Given the description of an element on the screen output the (x, y) to click on. 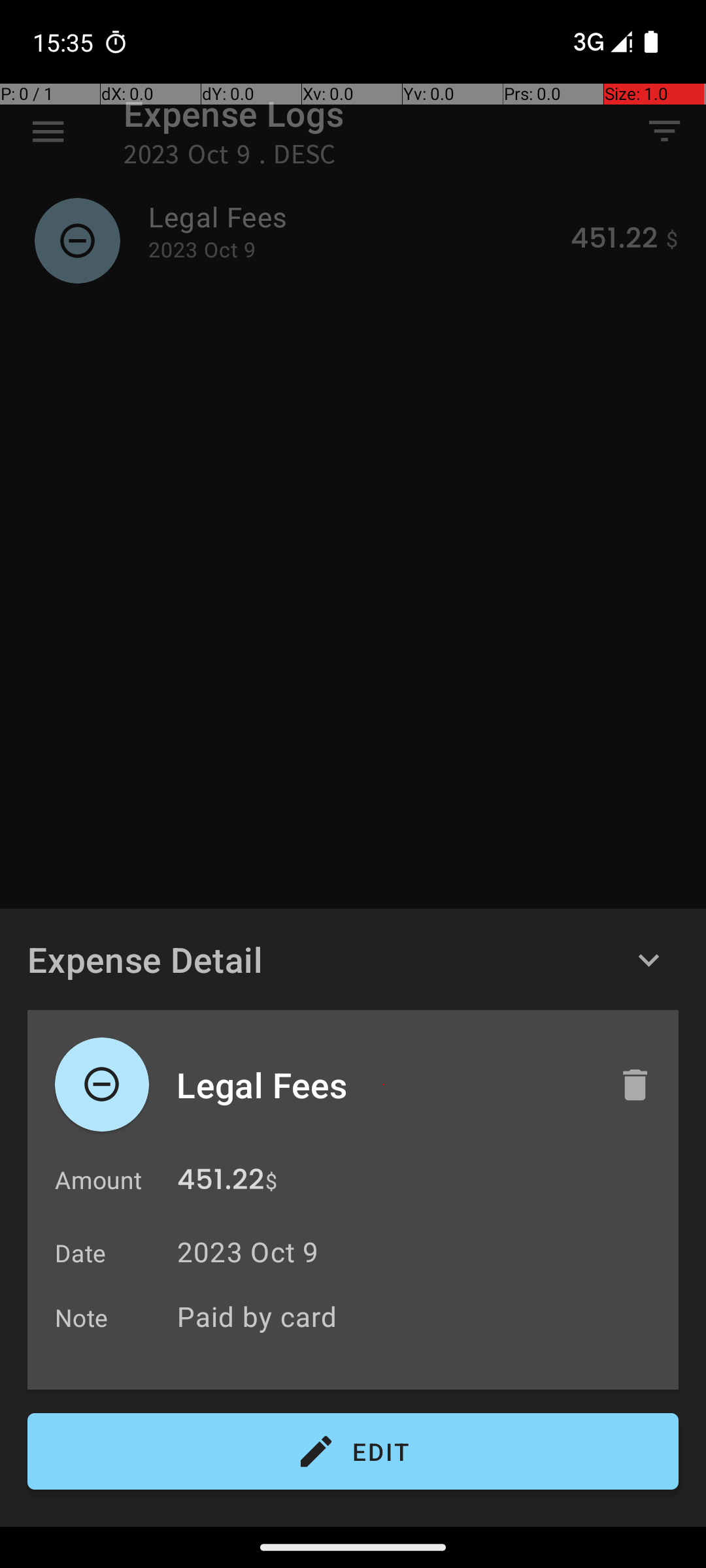
Legal Fees Element type: android.widget.TextView (383, 1084)
451.22 Element type: android.widget.TextView (220, 1182)
